Given the description of an element on the screen output the (x, y) to click on. 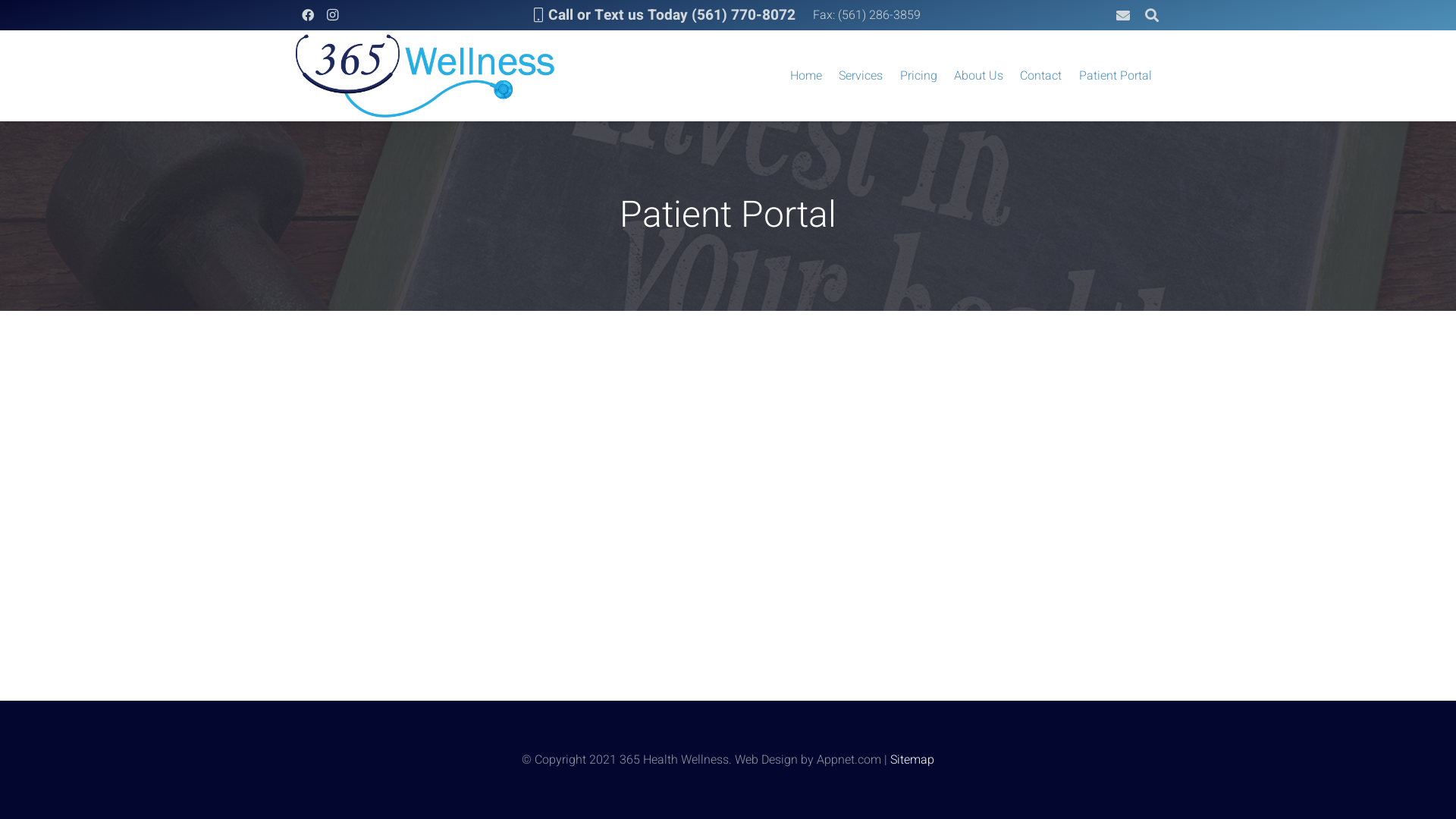
Contact Element type: text (1040, 75)
About Us Element type: text (978, 75)
Call or Text us Today (561) 770-8072 Element type: text (664, 14)
Sitemap Element type: text (912, 759)
Instagram Element type: hover (332, 15)
Facebook Element type: hover (307, 15)
Pricing Element type: text (918, 75)
Email Element type: hover (1122, 14)
Services Element type: text (860, 75)
Home Element type: text (805, 75)
Patient Portal Element type: text (1115, 75)
